Given the description of an element on the screen output the (x, y) to click on. 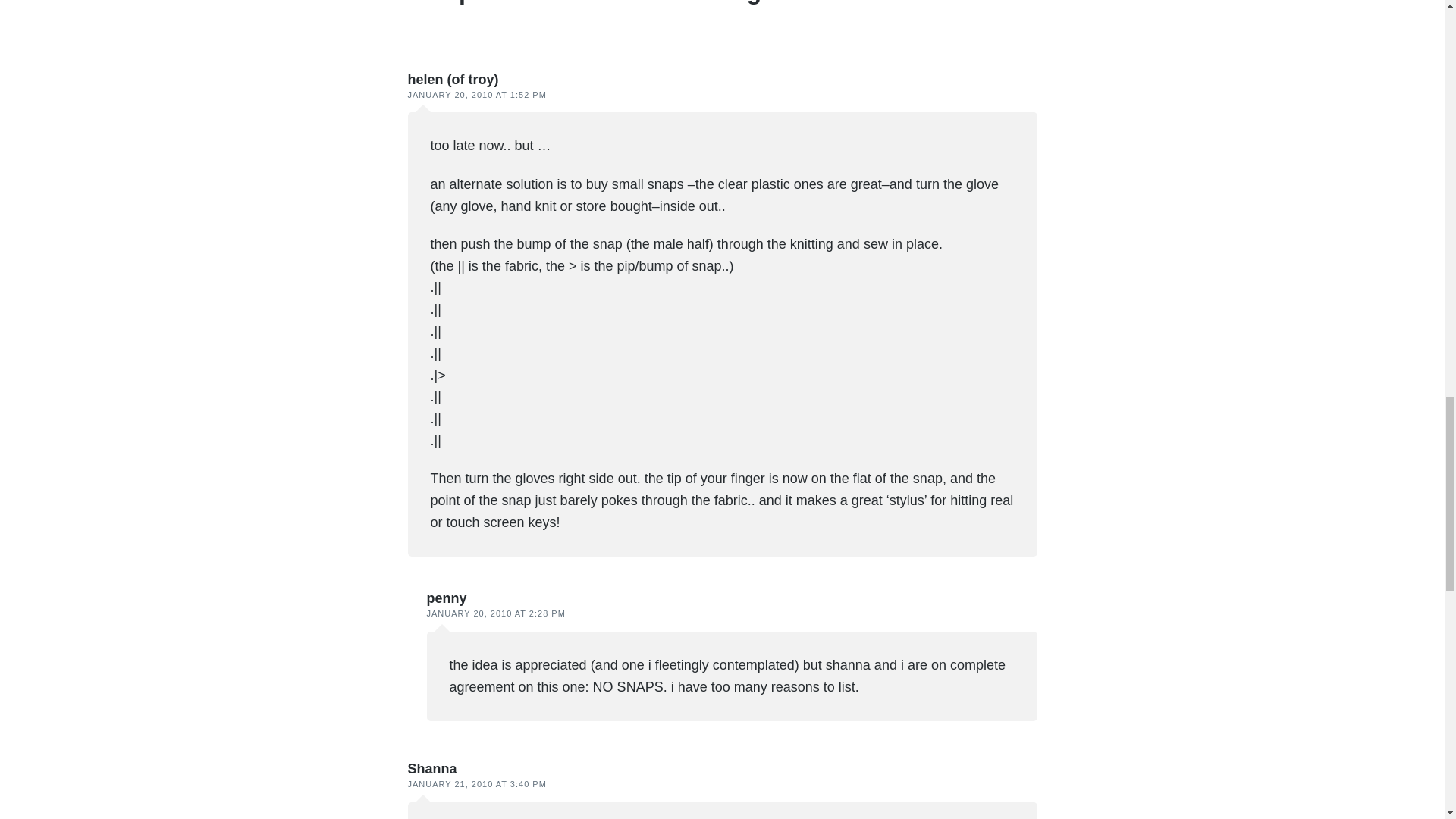
penny (445, 598)
JANUARY 21, 2010 AT 3:40 PM (477, 783)
JANUARY 20, 2010 AT 1:52 PM (477, 94)
JANUARY 20, 2010 AT 2:28 PM (495, 613)
Shanna (432, 768)
